Given the description of an element on the screen output the (x, y) to click on. 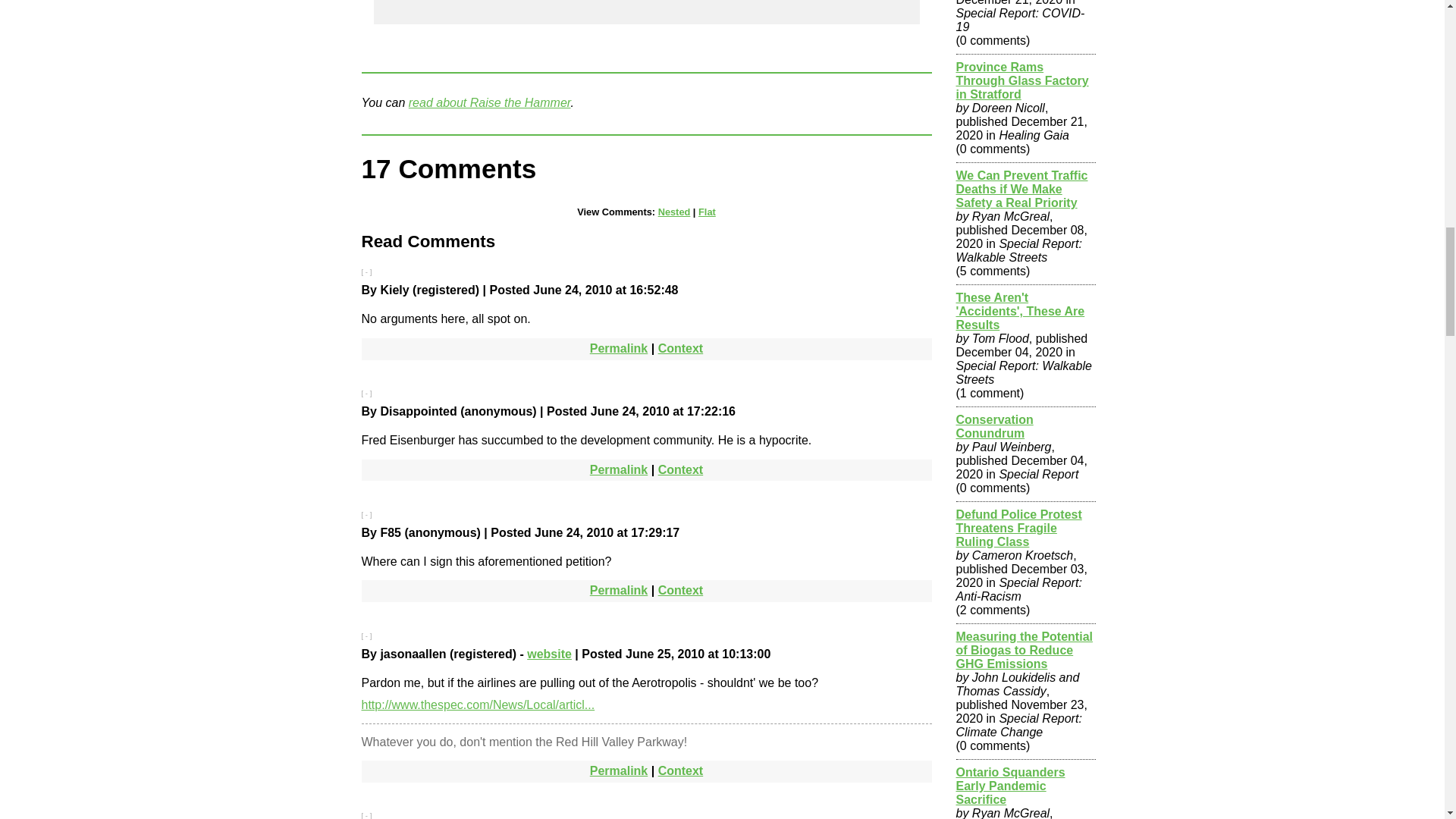
Permanent URL for this comment (618, 348)
Permalink (618, 770)
Nested (674, 211)
Permalink (618, 469)
Context (680, 590)
Link to this comment in the comment thread (680, 348)
Context (680, 348)
Permalink (618, 348)
Permanent URL for this comment (618, 469)
Link to this comment in the comment thread (680, 469)
